Given the description of an element on the screen output the (x, y) to click on. 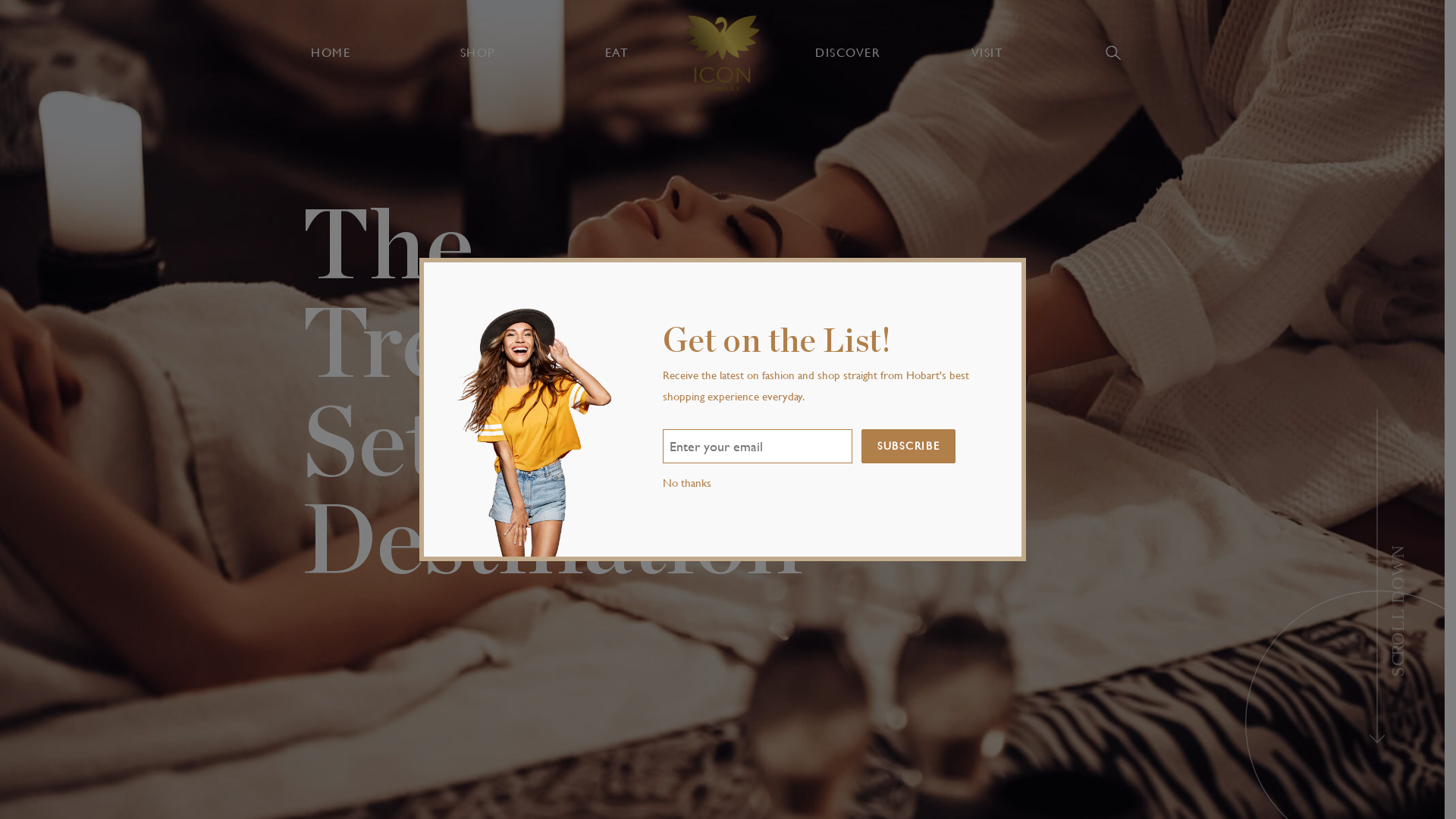
SHOP Element type: text (477, 52)
EAT Element type: text (616, 52)
SUBSCRIBE Element type: text (908, 446)
HOME Element type: text (330, 52)
VISIT Element type: text (987, 52)
DISCOVER Element type: text (847, 52)
